Given the description of an element on the screen output the (x, y) to click on. 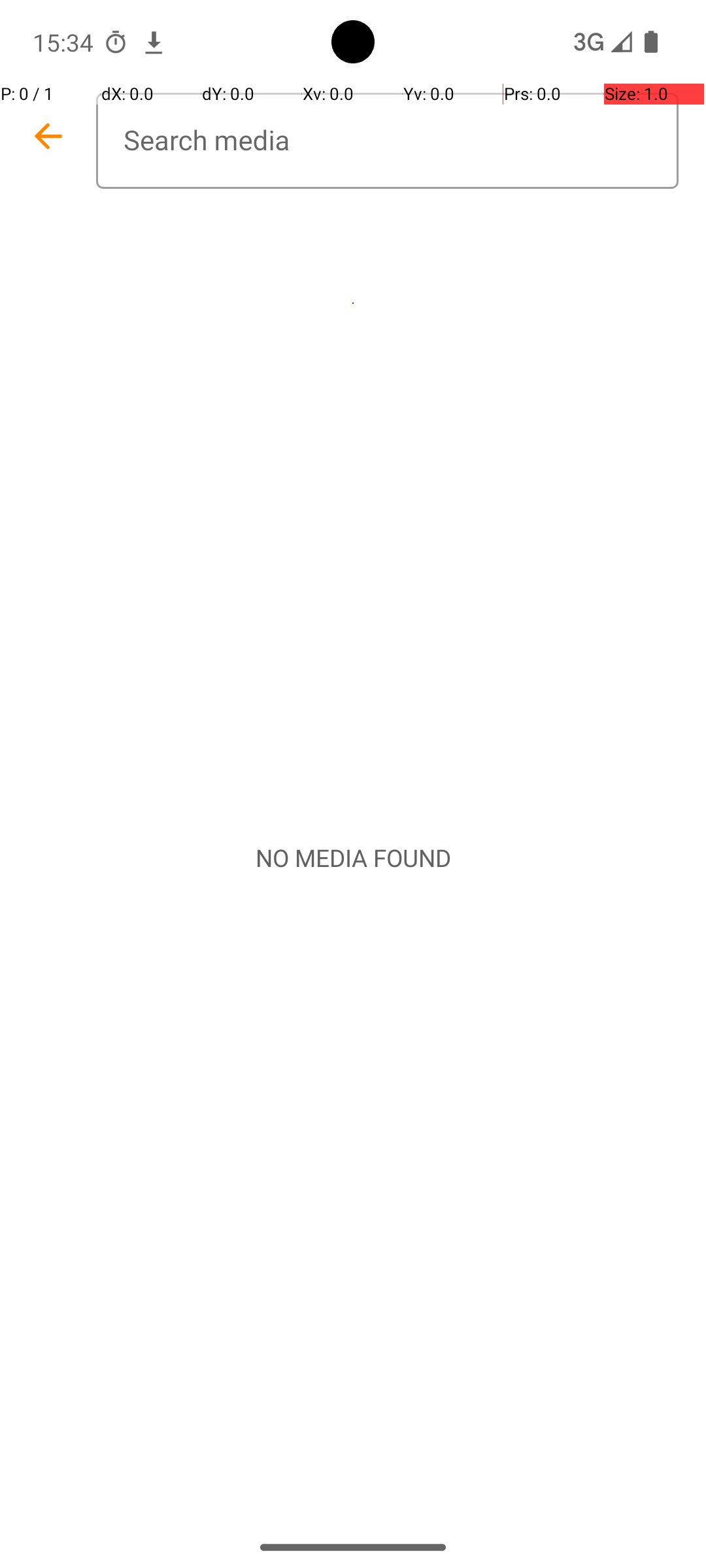
Search media Element type: android.widget.EditText (387, 140)
NO MEDIA FOUND Element type: android.widget.TextView (353, 857)
